Given the description of an element on the screen output the (x, y) to click on. 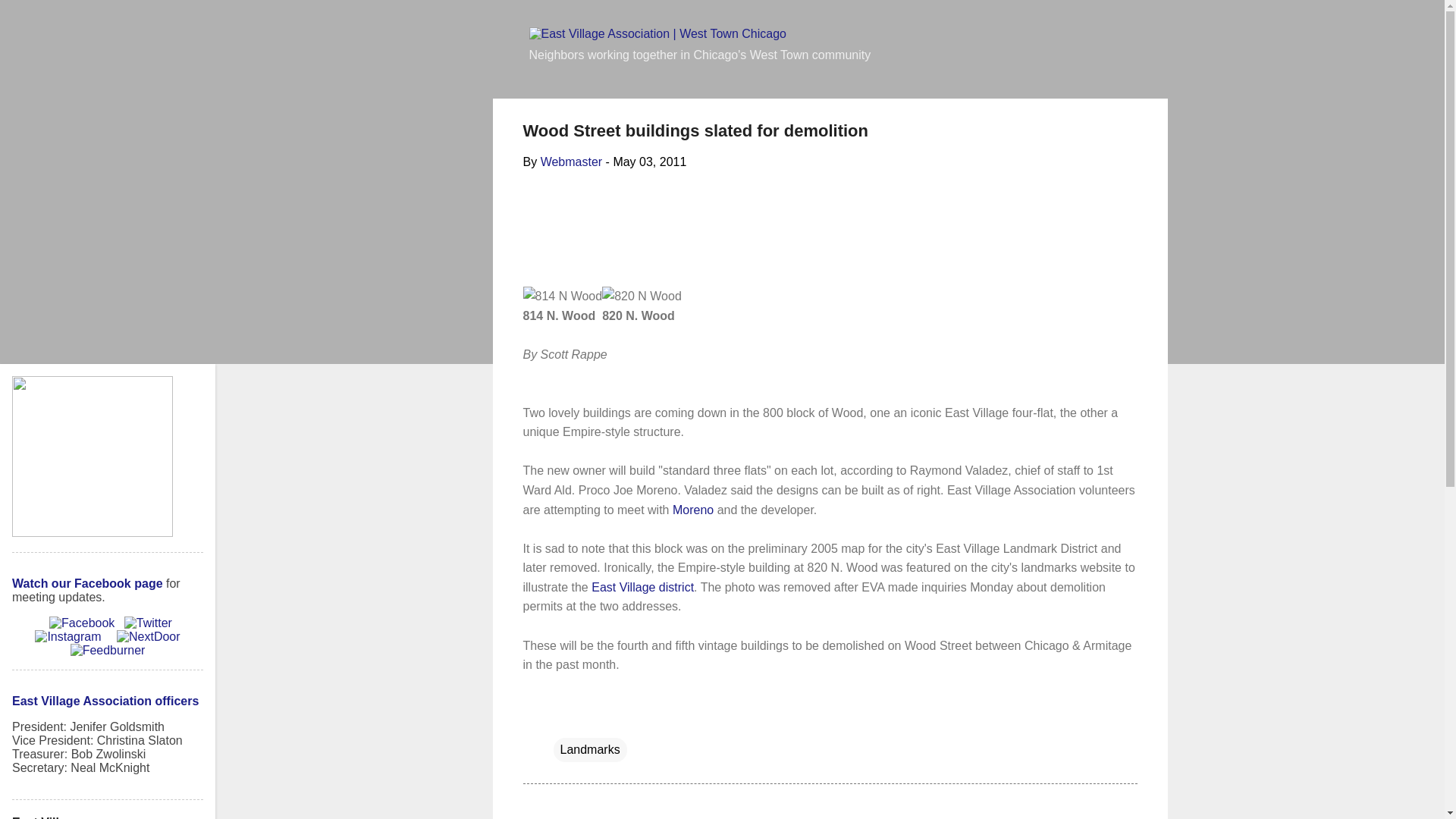
Watch our Facebook page (87, 583)
permanent link (648, 161)
May 03, 2011 (648, 161)
East Village district (642, 586)
East Village Association officers (104, 700)
Search (32, 18)
Landmarks (590, 749)
author profile (571, 161)
Email Post (562, 718)
Webmaster (571, 161)
Moreno (692, 509)
